Given the description of an element on the screen output the (x, y) to click on. 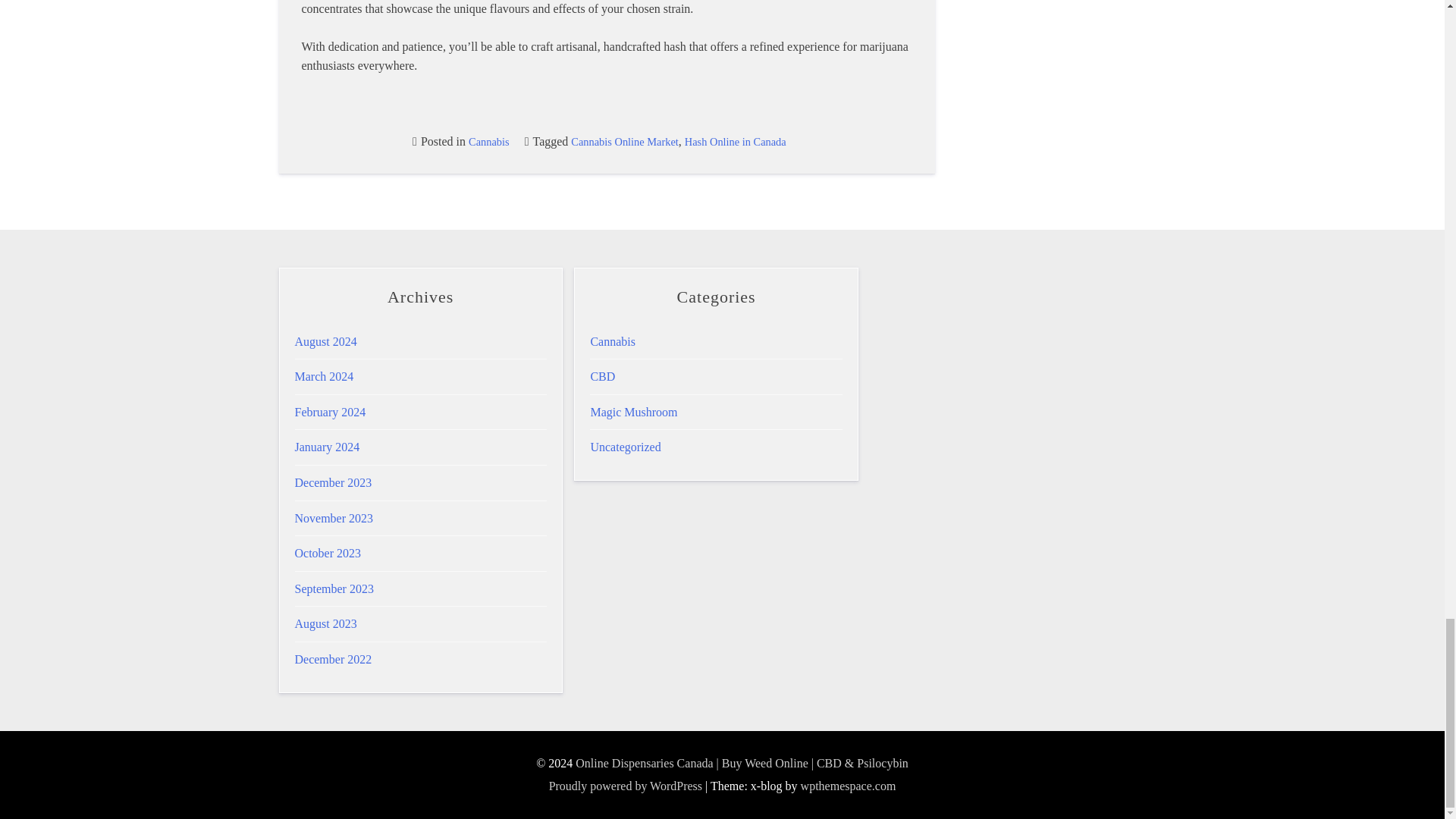
August 2023 (325, 623)
October 2023 (327, 553)
CBD (601, 376)
wpthemespace.com (848, 786)
December 2023 (332, 481)
March 2024 (323, 376)
February 2024 (329, 411)
Hash Online in Canada (735, 141)
Proudly powered by WordPress (624, 786)
December 2022 (332, 658)
